Given the description of an element on the screen output the (x, y) to click on. 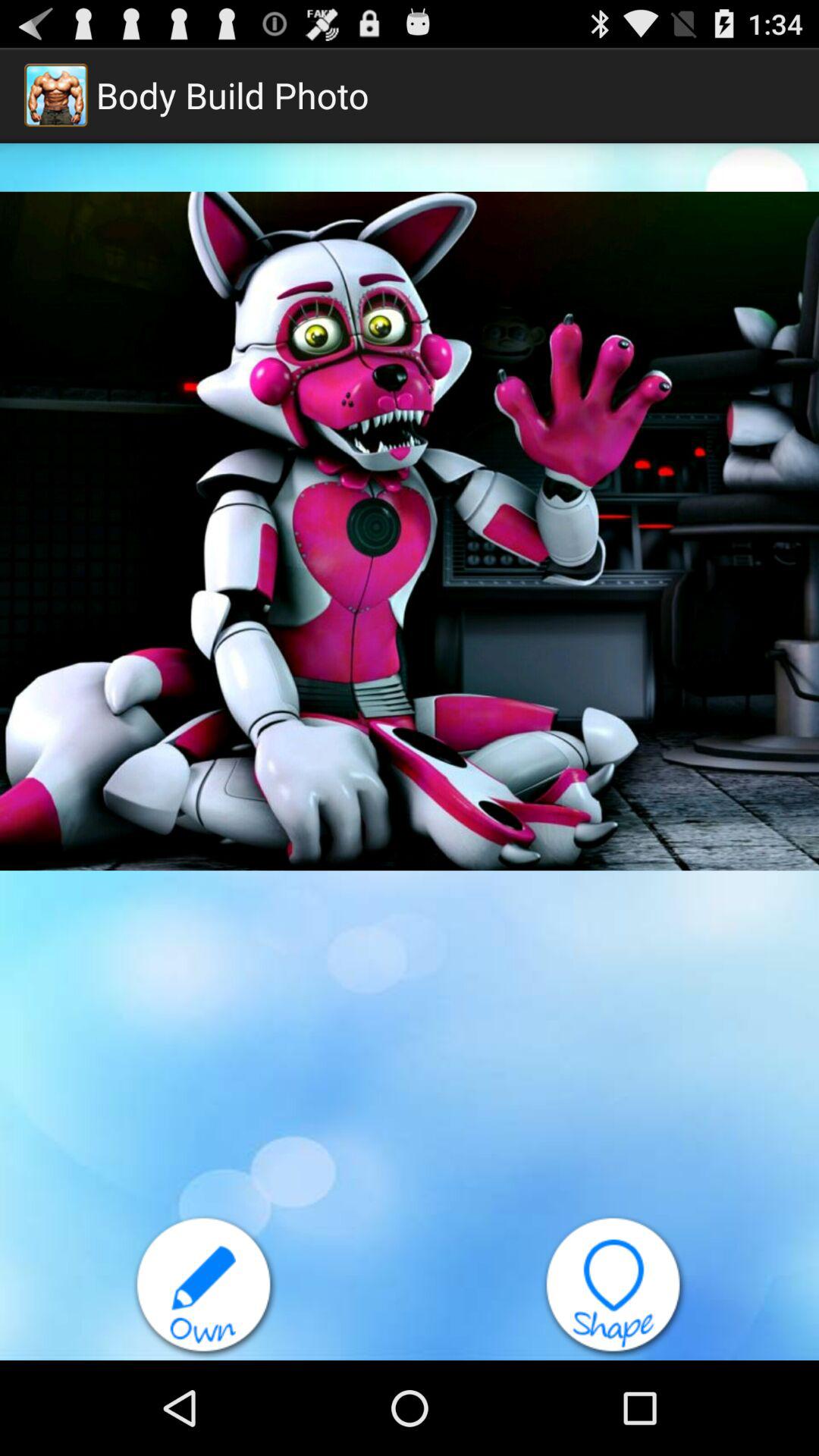
markup the image (204, 1287)
